Given the description of an element on the screen output the (x, y) to click on. 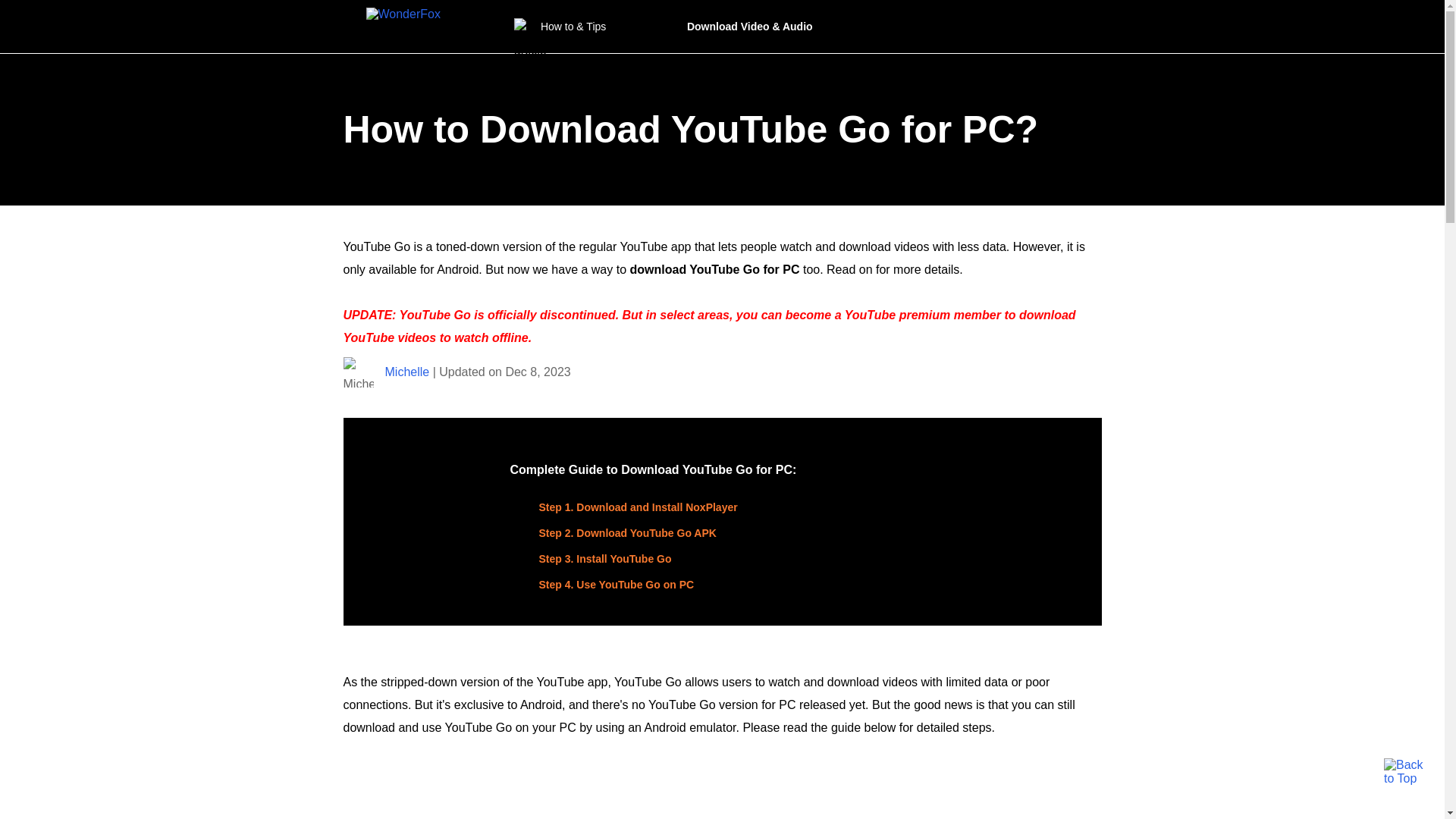
Michelle (407, 371)
Step 4. Use YouTube Go on PC (616, 584)
Step 2. Download YouTube Go APK (627, 532)
Step 1. Download and Install NoxPlayer (637, 507)
Step 3. Install YouTube Go (604, 558)
